Given the description of an element on the screen output the (x, y) to click on. 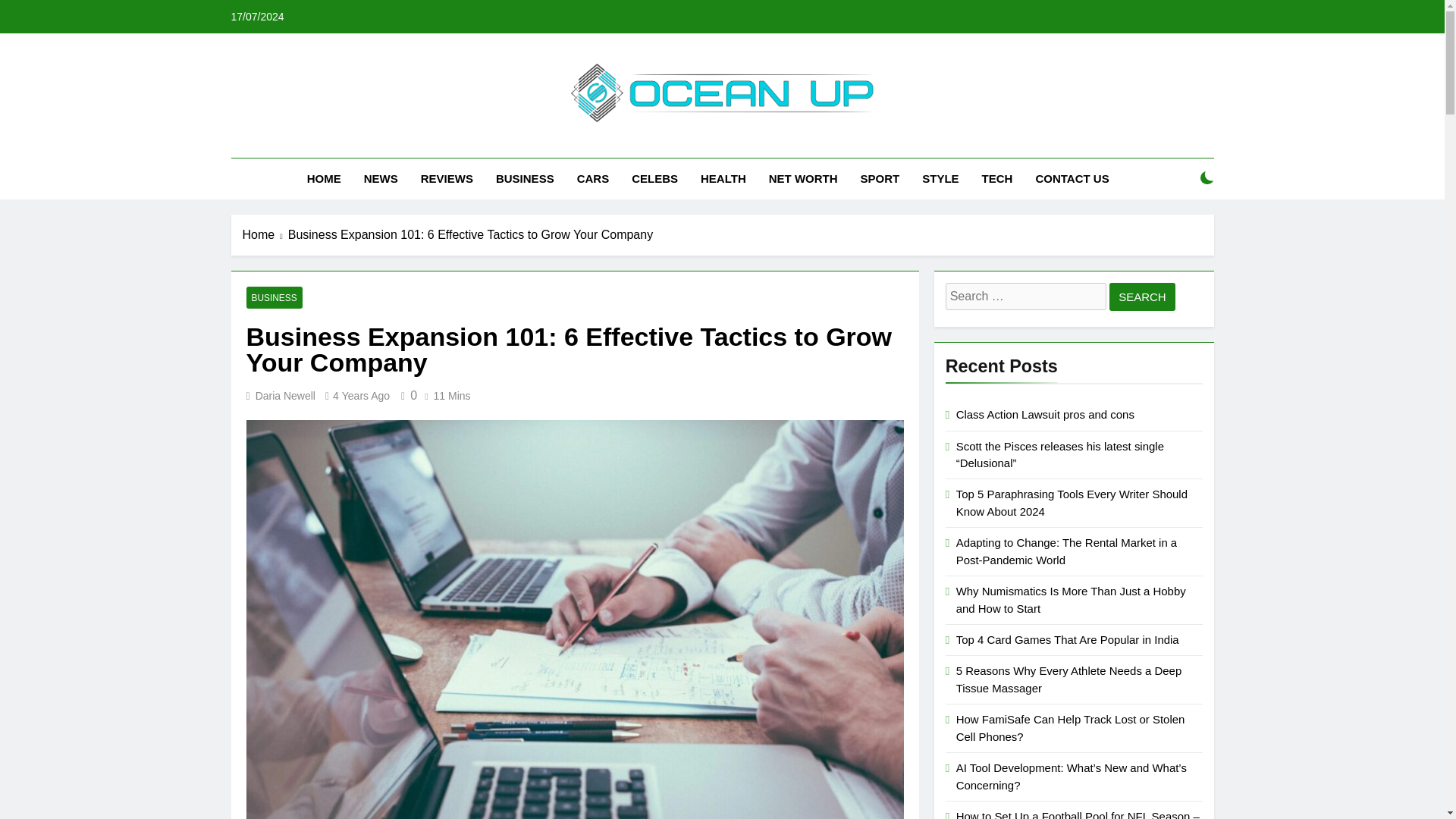
0 (406, 395)
on (1206, 178)
CARS (593, 178)
HOME (323, 178)
TECH (998, 178)
HEALTH (722, 178)
BUSINESS (525, 178)
Oceanup.Com (585, 143)
4 Years Ago (361, 395)
Daria Newell (285, 395)
SPORT (879, 178)
CONTACT US (1071, 178)
Search (1141, 296)
Search (1141, 296)
Home (265, 235)
